Given the description of an element on the screen output the (x, y) to click on. 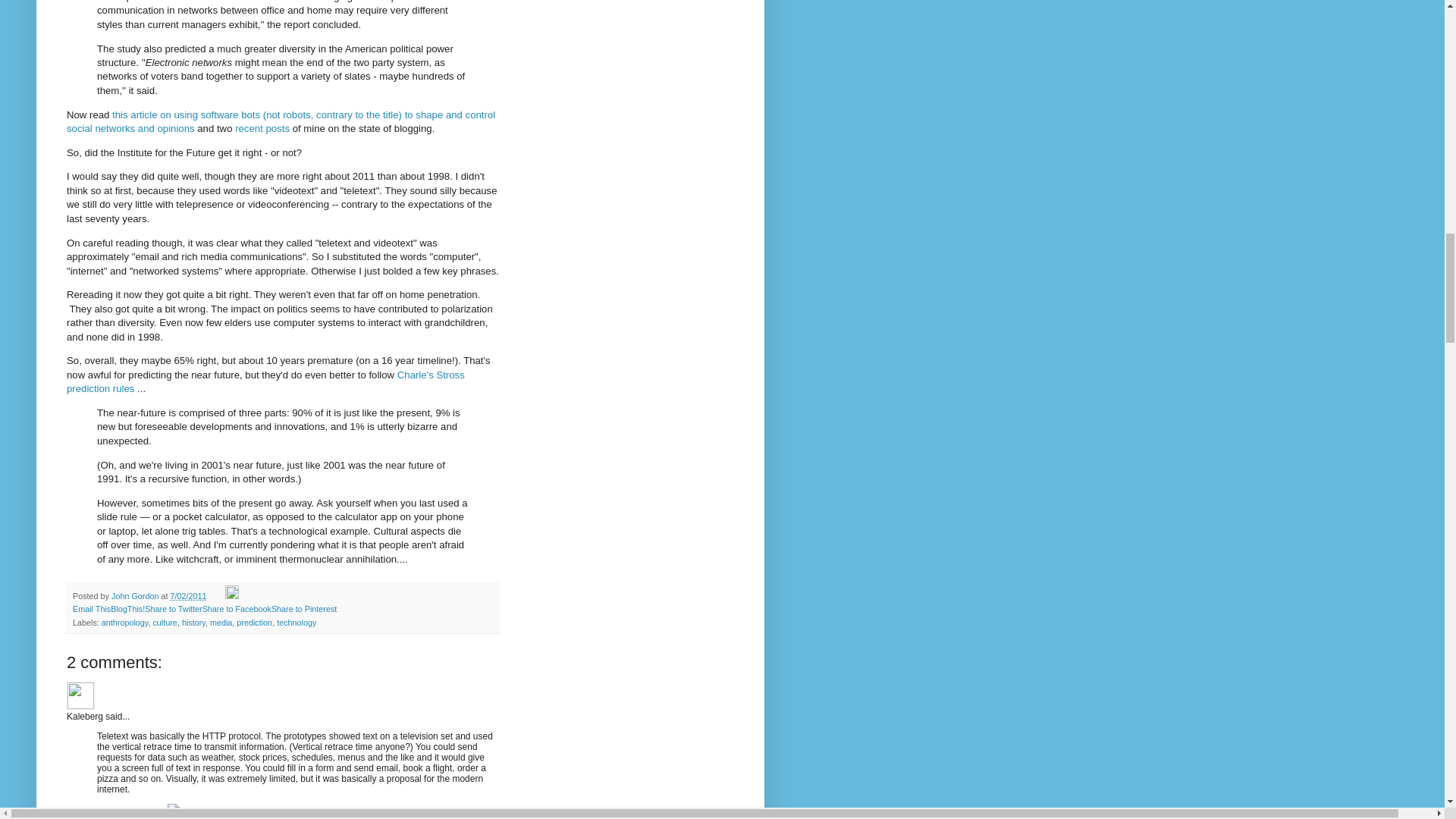
Delete Comment (173, 812)
Email This (91, 608)
anthropology (124, 622)
Share to Facebook (236, 608)
Charle's Stross prediction rules (265, 381)
Share to Pinterest (303, 608)
posts (276, 128)
culture (164, 622)
media (220, 622)
Share to Pinterest (303, 608)
history (193, 622)
BlogThis! (127, 608)
Share to Twitter (173, 608)
prediction (253, 622)
Email Post (217, 595)
